Given the description of an element on the screen output the (x, y) to click on. 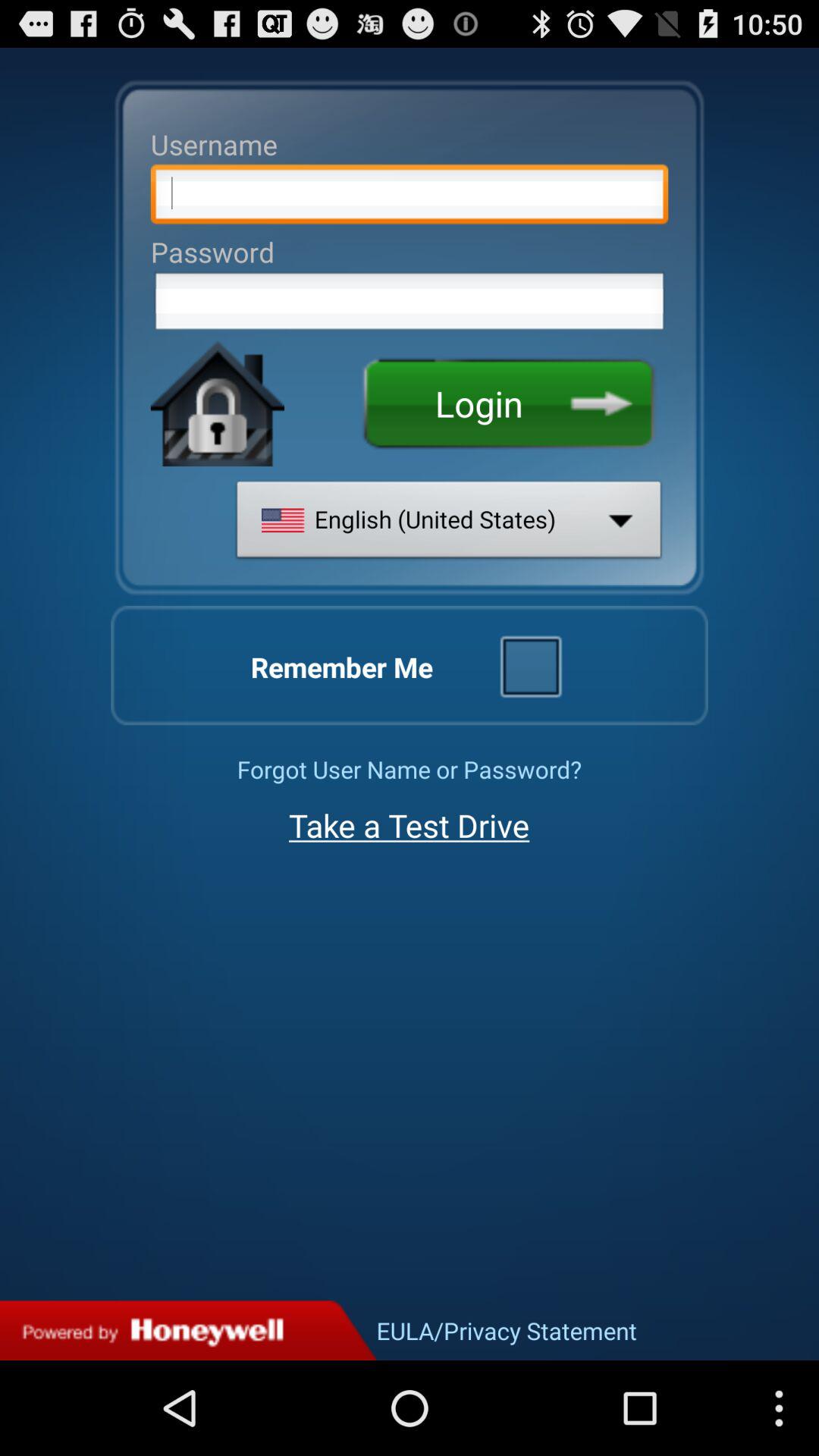
go to privacy statement (188, 1330)
